Given the description of an element on the screen output the (x, y) to click on. 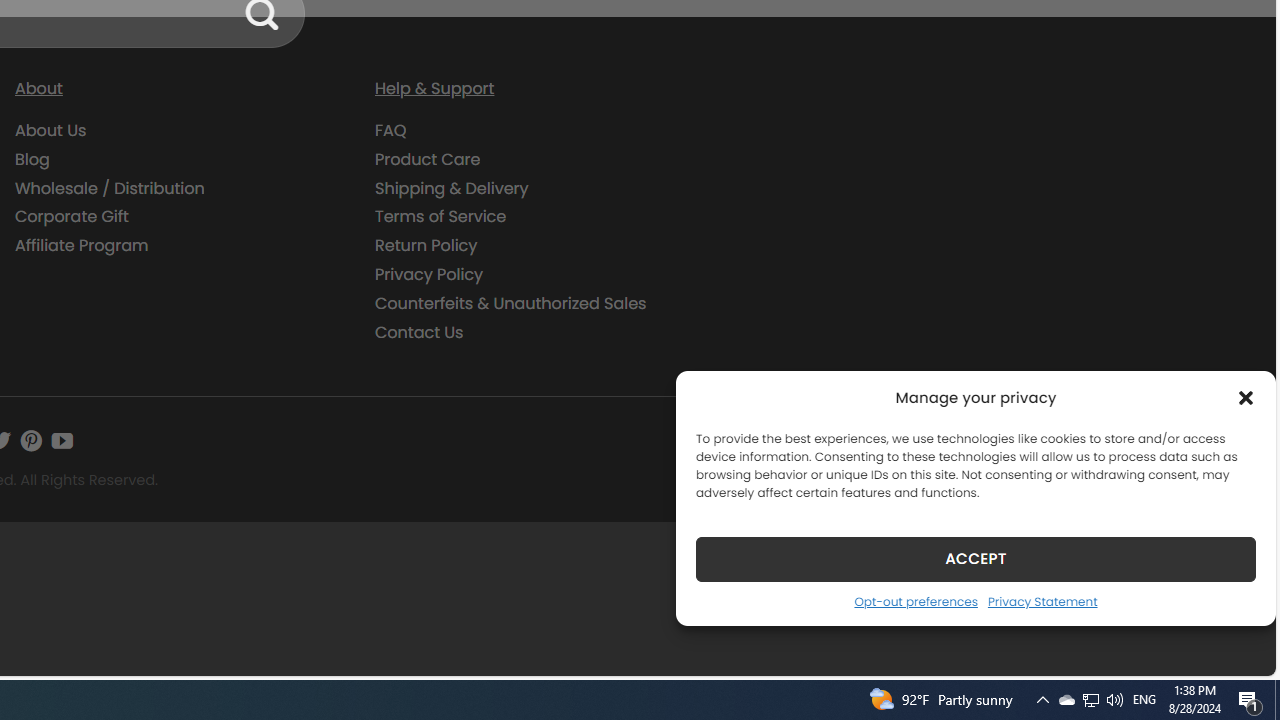
Blog (180, 159)
Affiliate Program (81, 245)
Class: cmplz-close (1245, 397)
